Given the description of an element on the screen output the (x, y) to click on. 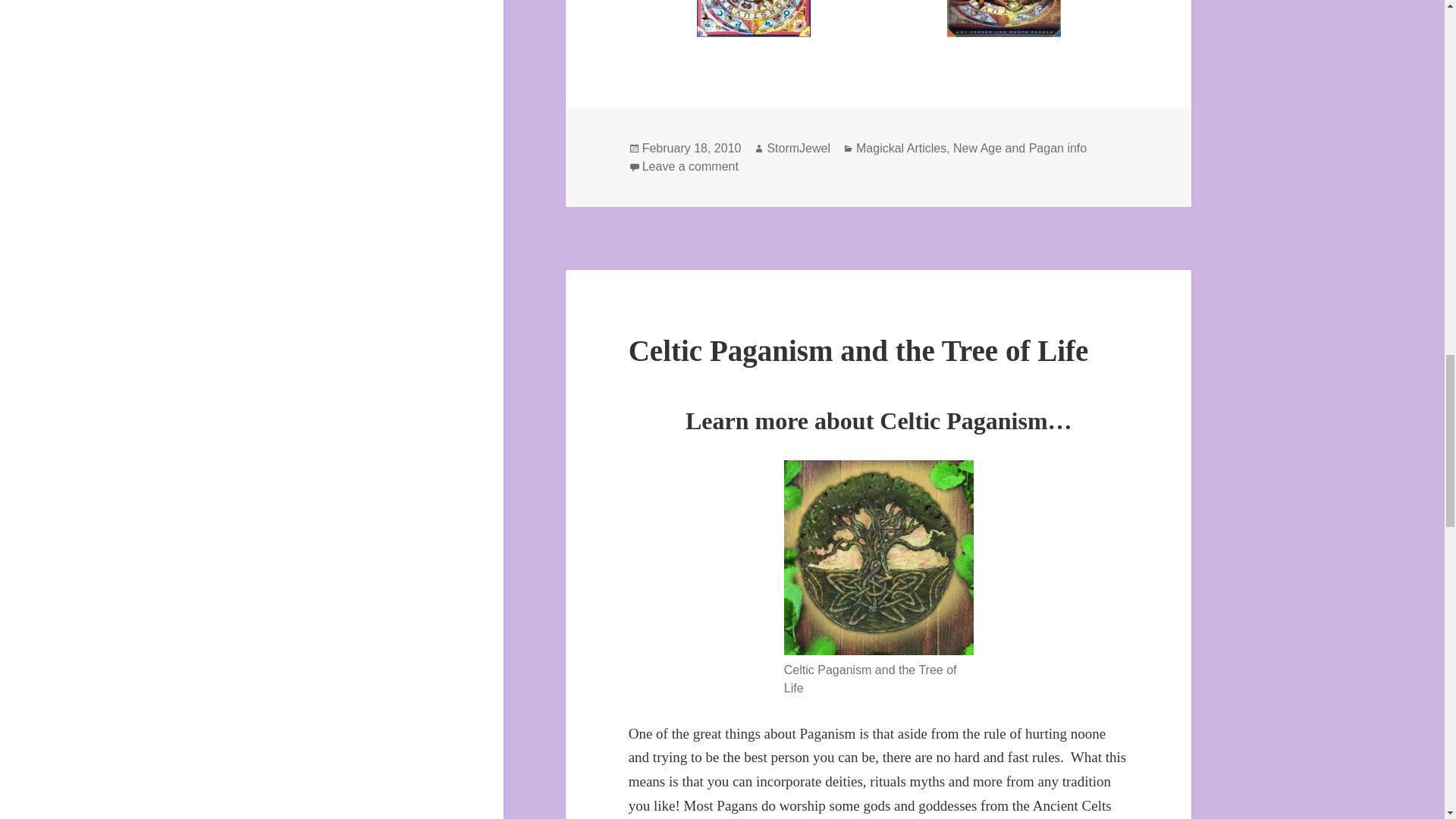
StormJewel (798, 148)
Magickal Articles, New Age and Pagan info (971, 148)
February 18, 2010 (691, 148)
Celtic Paganism and the Tree of Life (858, 349)
Celtic Paganism (879, 556)
